Given the description of an element on the screen output the (x, y) to click on. 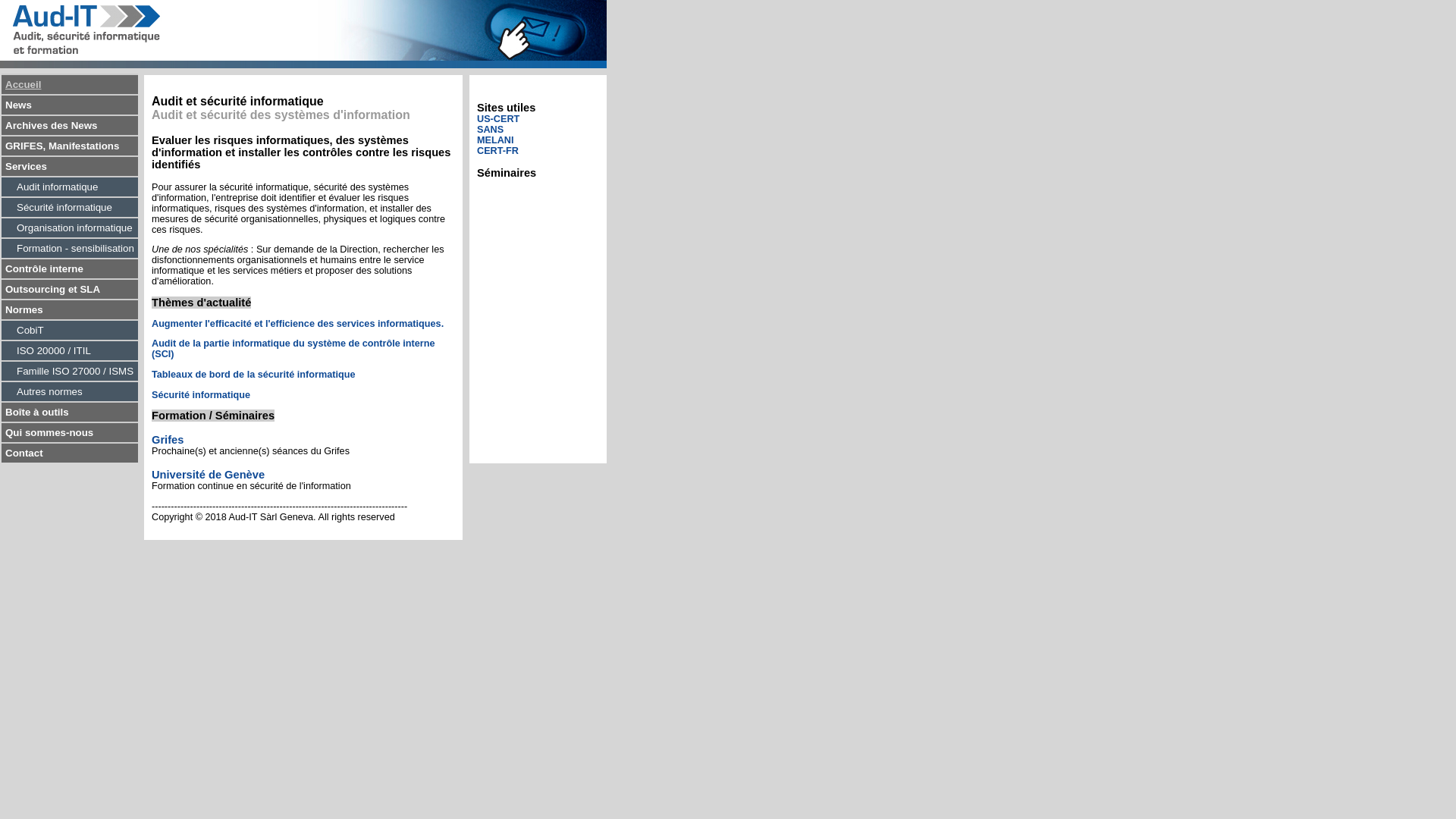
Normes Element type: text (69, 309)
CobiT Element type: text (69, 329)
MELANI Element type: text (495, 139)
Accueil Element type: text (69, 84)
Archives des News Element type: text (69, 125)
Contact Element type: text (69, 452)
SANS Element type: text (489, 129)
Autres normes Element type: text (69, 391)
Services Element type: text (69, 165)
US-CERT Element type: text (497, 118)
GRIFES, Manifestations Element type: text (69, 145)
Organisation informatique Element type: text (69, 227)
Grifes Element type: text (167, 439)
News Element type: text (69, 104)
Famille ISO 27000 / ISMS Element type: text (69, 370)
Formation - sensibilisation Element type: text (69, 247)
Audit informatique Element type: text (69, 186)
Qui sommes-nous Element type: text (69, 432)
Outsourcing et SLA Element type: text (69, 288)
CERT-FR Element type: text (497, 150)
ISO 20000 / ITIL Element type: text (69, 350)
